Given the description of an element on the screen output the (x, y) to click on. 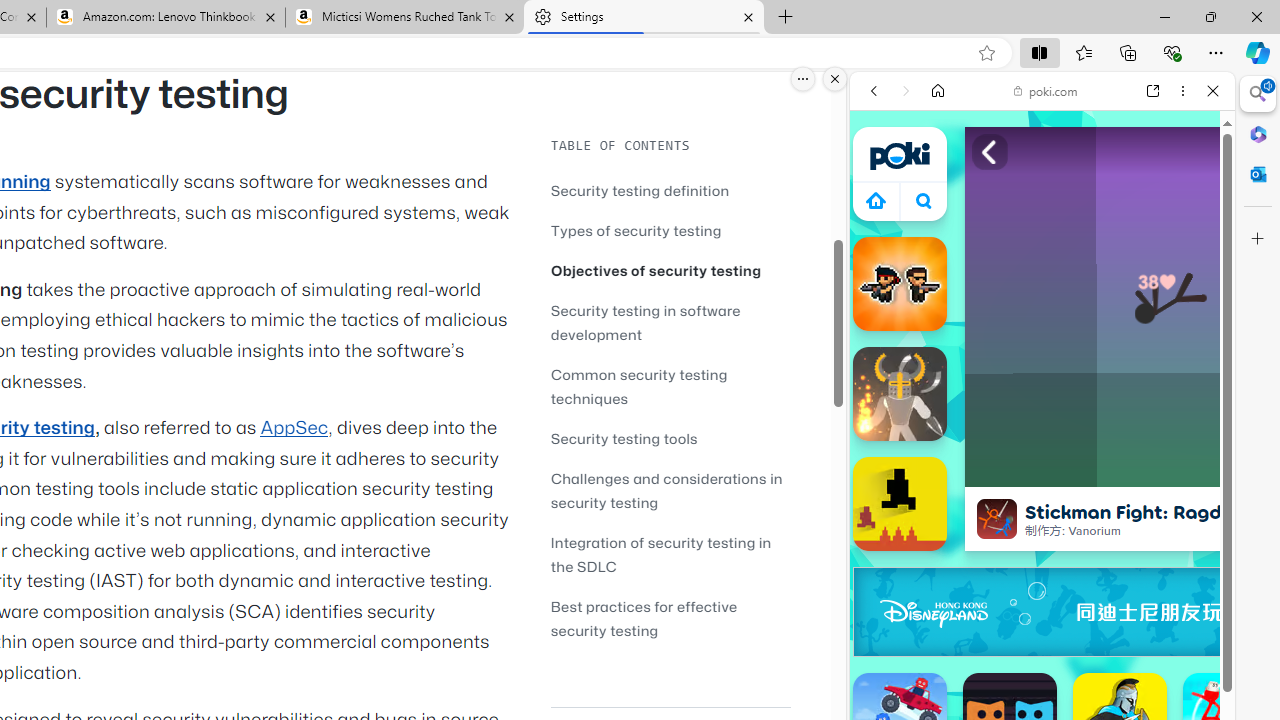
Objectives of security testing (670, 269)
Io Games (1042, 617)
Security testing in software development (670, 322)
Integration of security testing in the SDLC (670, 553)
Search Filter, IMAGES (939, 228)
Shooting Games (1042, 518)
Sports Games (1042, 666)
Shooting Games (1042, 519)
Best practices for effective security testing (670, 618)
IMAGES (939, 228)
